Given the description of an element on the screen output the (x, y) to click on. 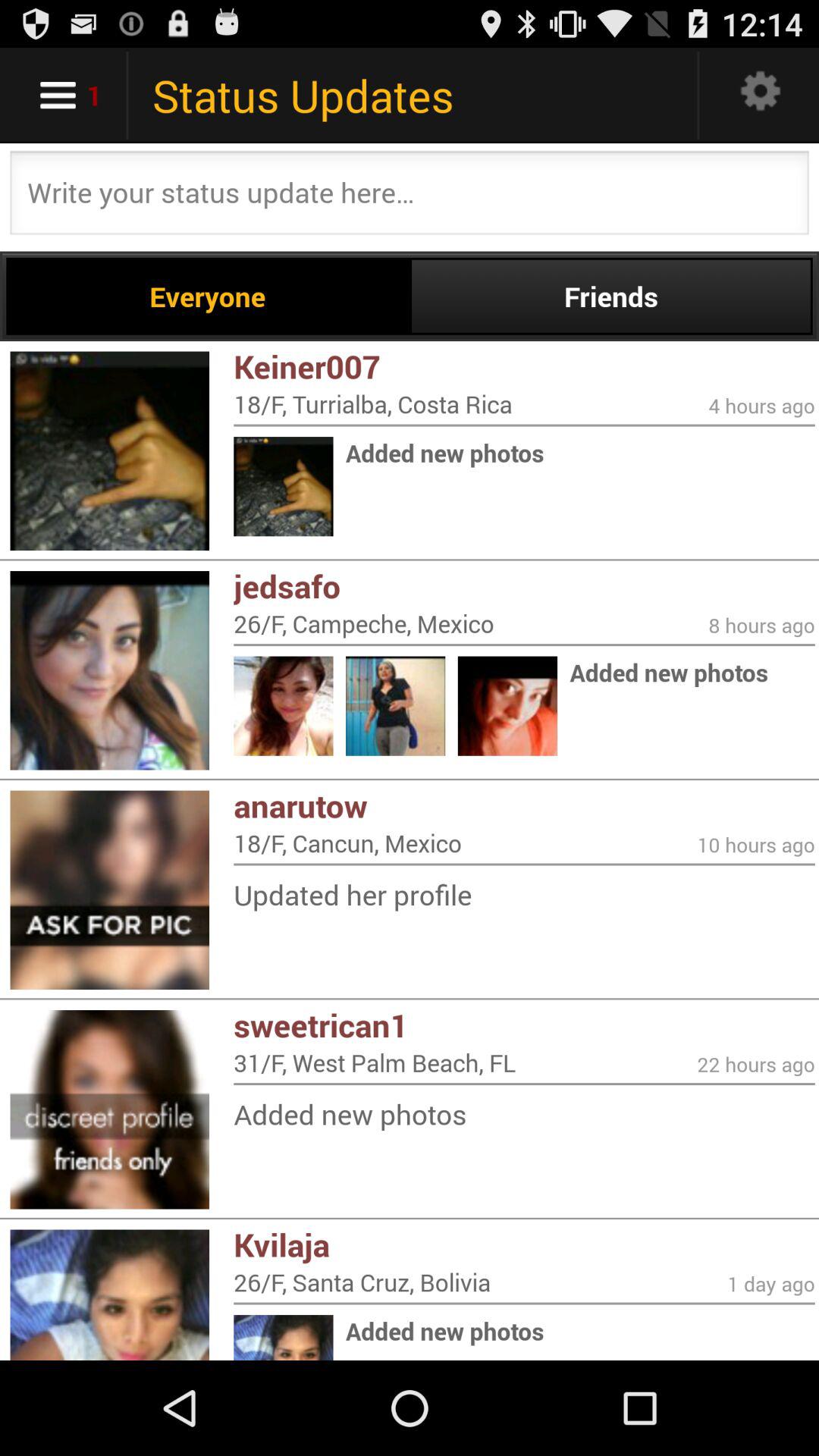
scroll to sweetrican1 icon (524, 1024)
